Given the description of an element on the screen output the (x, y) to click on. 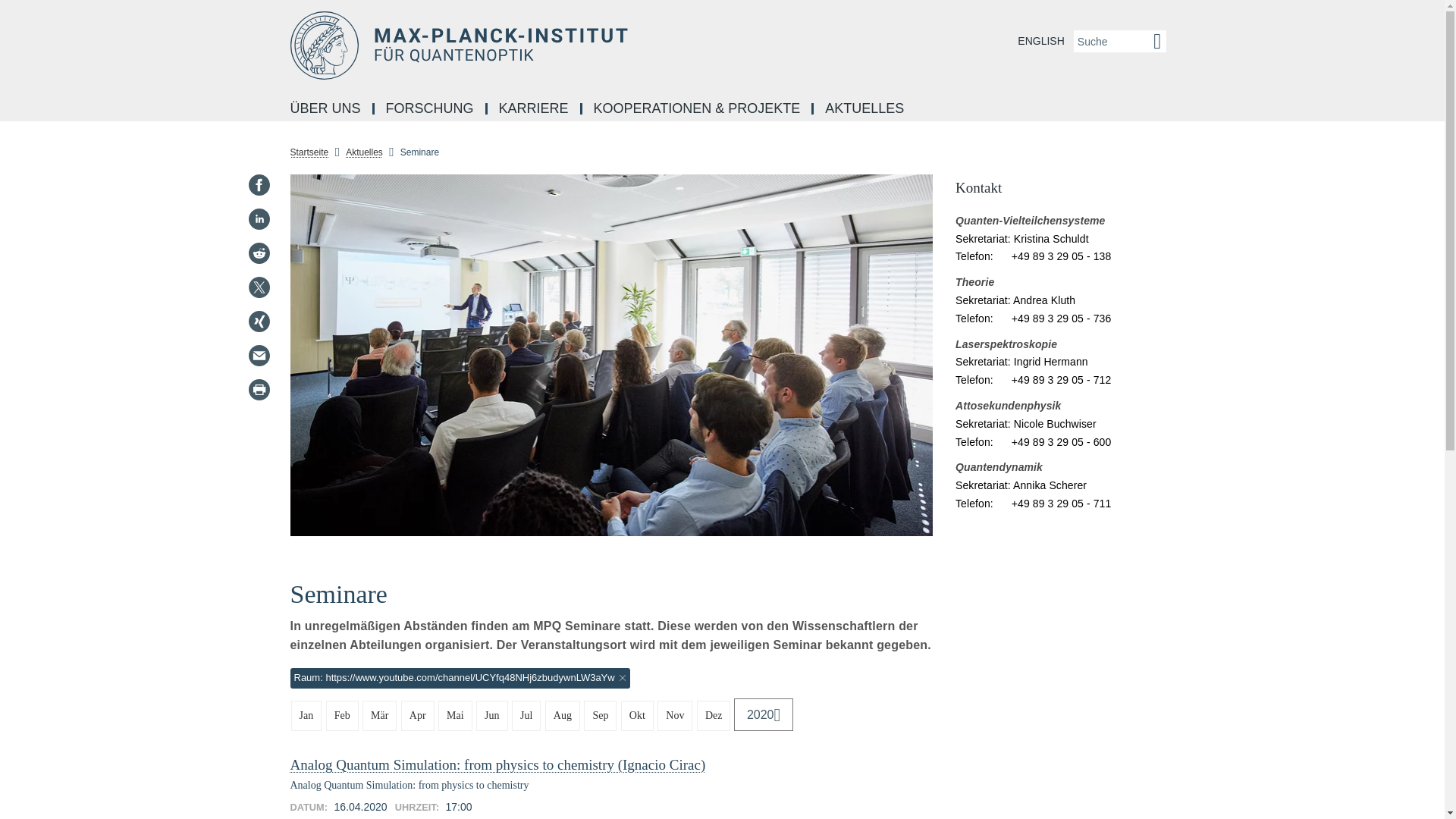
Twitter (258, 287)
E-Mail (258, 354)
FORSCHUNG (430, 108)
Print (258, 389)
Xing (258, 321)
Reddit (258, 252)
LinkedIn (258, 219)
ENGLISH (1039, 41)
Facebook (258, 184)
